Given the description of an element on the screen output the (x, y) to click on. 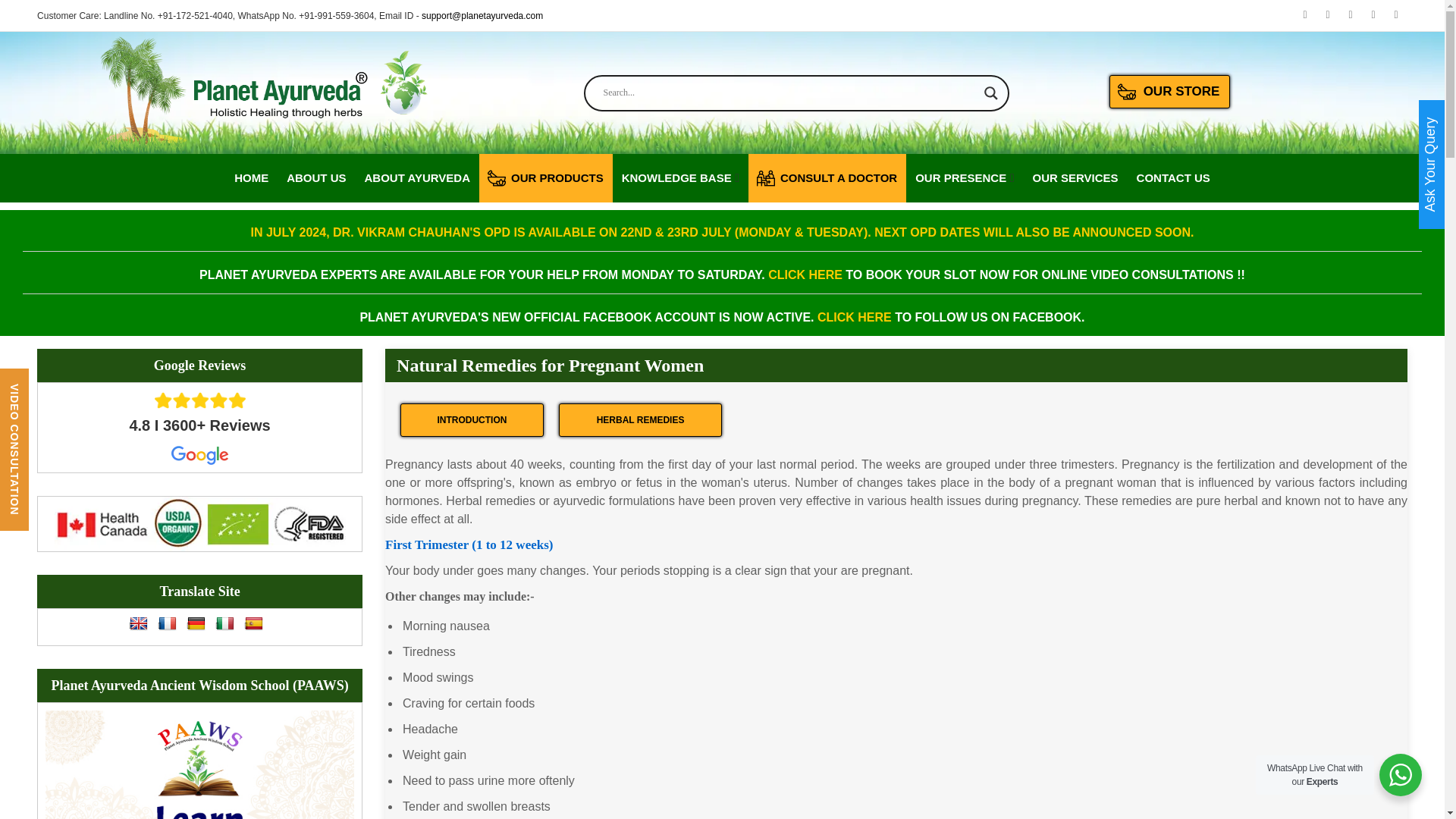
HERBAL REMEDIES (640, 419)
ABOUT AYURVEDA (417, 177)
Facebook (1327, 15)
Twitter (1350, 15)
English (138, 623)
OUR SERVICES (1075, 177)
OUR STORE (1169, 91)
KNOWLEDGE BASE (676, 177)
Spanish (253, 623)
ABOUT US (316, 177)
HOME (250, 177)
INTRODUCTION (471, 419)
German (196, 623)
OUR PRESENCE (960, 177)
Youtube (1305, 15)
